Given the description of an element on the screen output the (x, y) to click on. 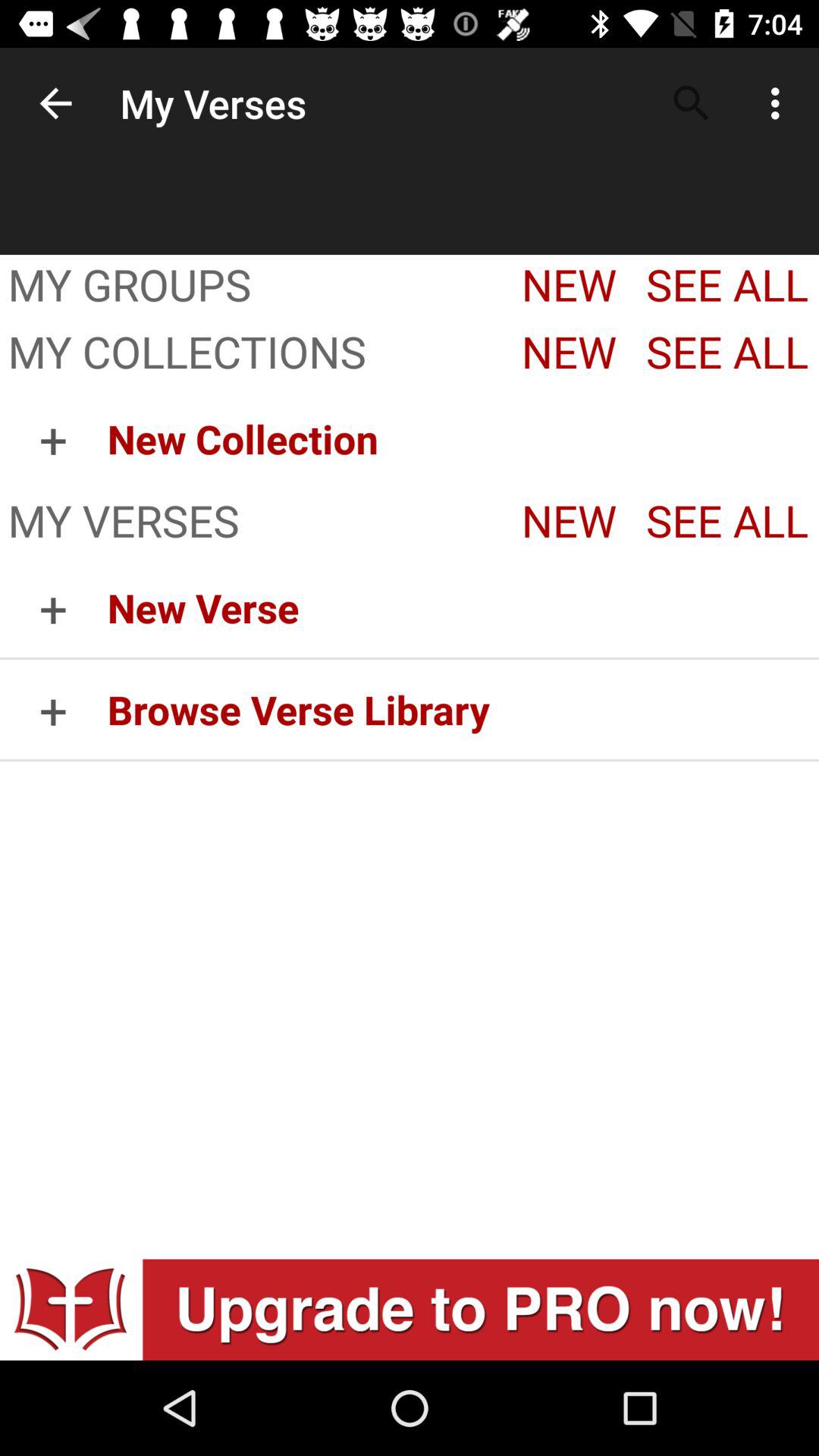
turn off the + icon (53, 709)
